Given the description of an element on the screen output the (x, y) to click on. 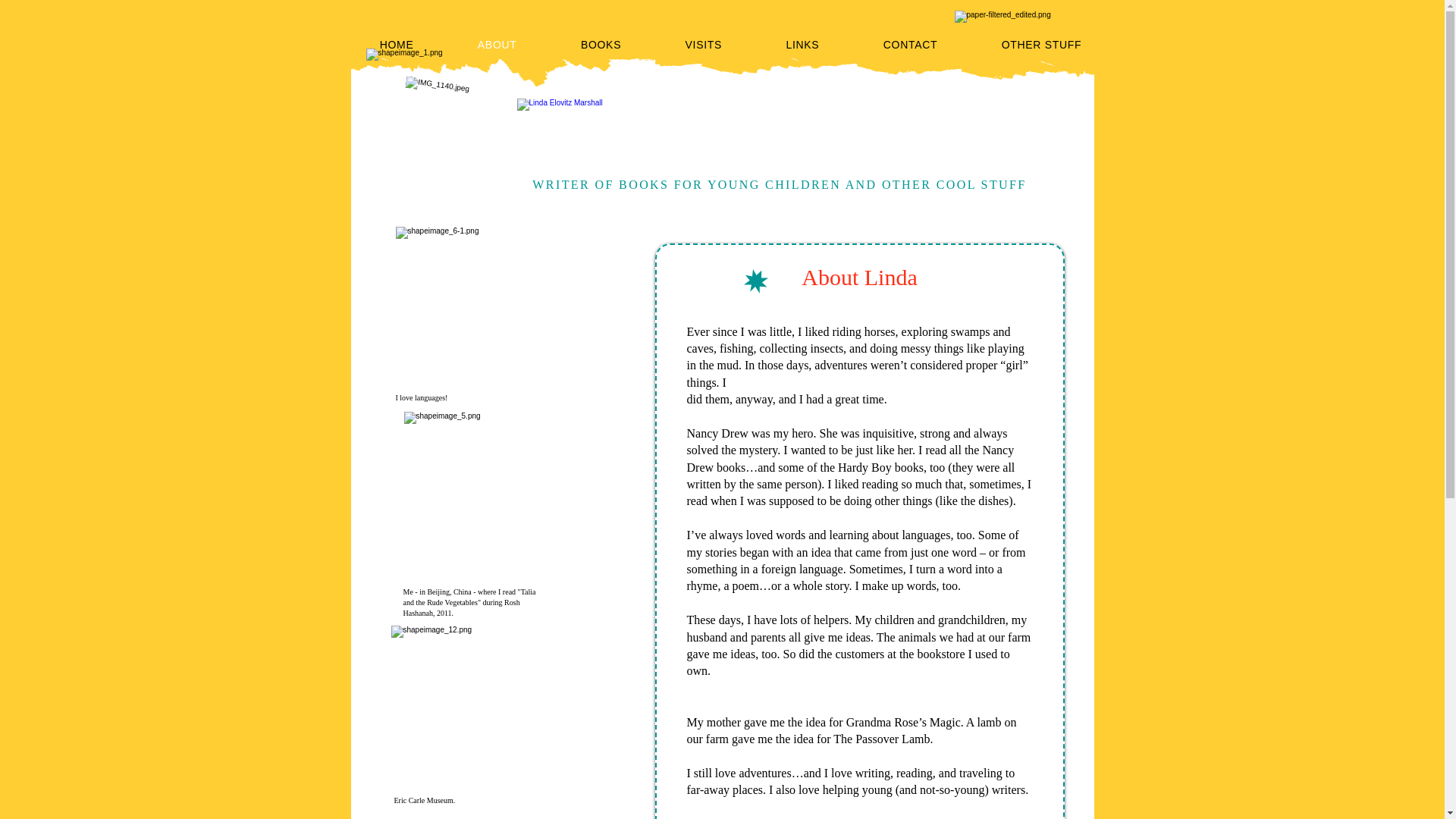
OTHER STUFF (1040, 44)
BOOKS (600, 44)
LINKS (802, 44)
CONTACT (910, 44)
ABOUT (497, 44)
HOME (396, 44)
VISITS (703, 44)
